Given the description of an element on the screen output the (x, y) to click on. 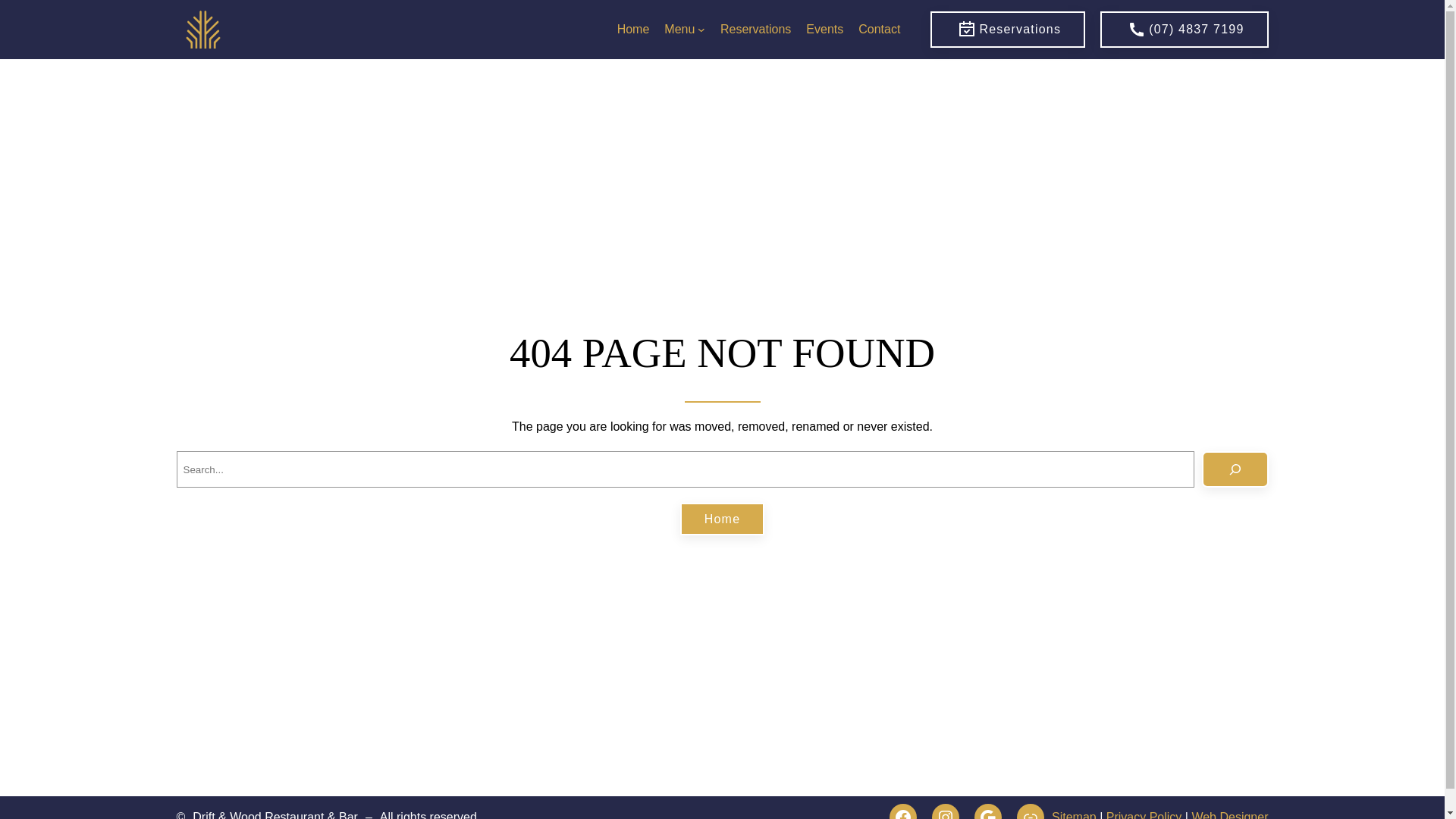
Home Element type: text (722, 518)
Menu Element type: text (679, 29)
Contact Element type: text (879, 29)
Reservations Element type: text (755, 29)
(07) 4837 7199 Element type: text (1183, 29)
Events Element type: text (824, 29)
Home Element type: text (633, 29)
Reservations Element type: text (1007, 29)
